Given the description of an element on the screen output the (x, y) to click on. 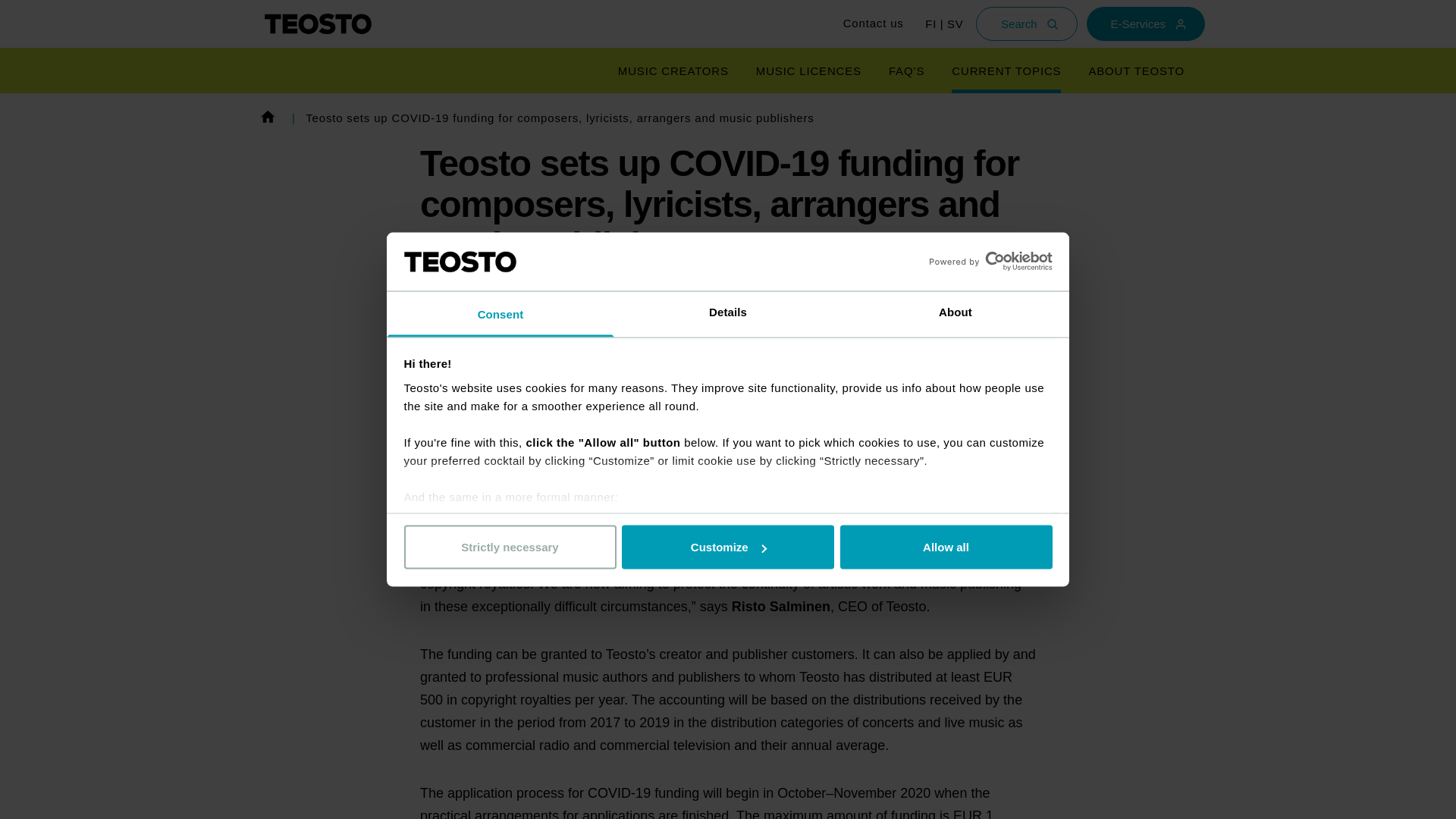
Details (727, 313)
About (954, 313)
Consent (500, 313)
